Given the description of an element on the screen output the (x, y) to click on. 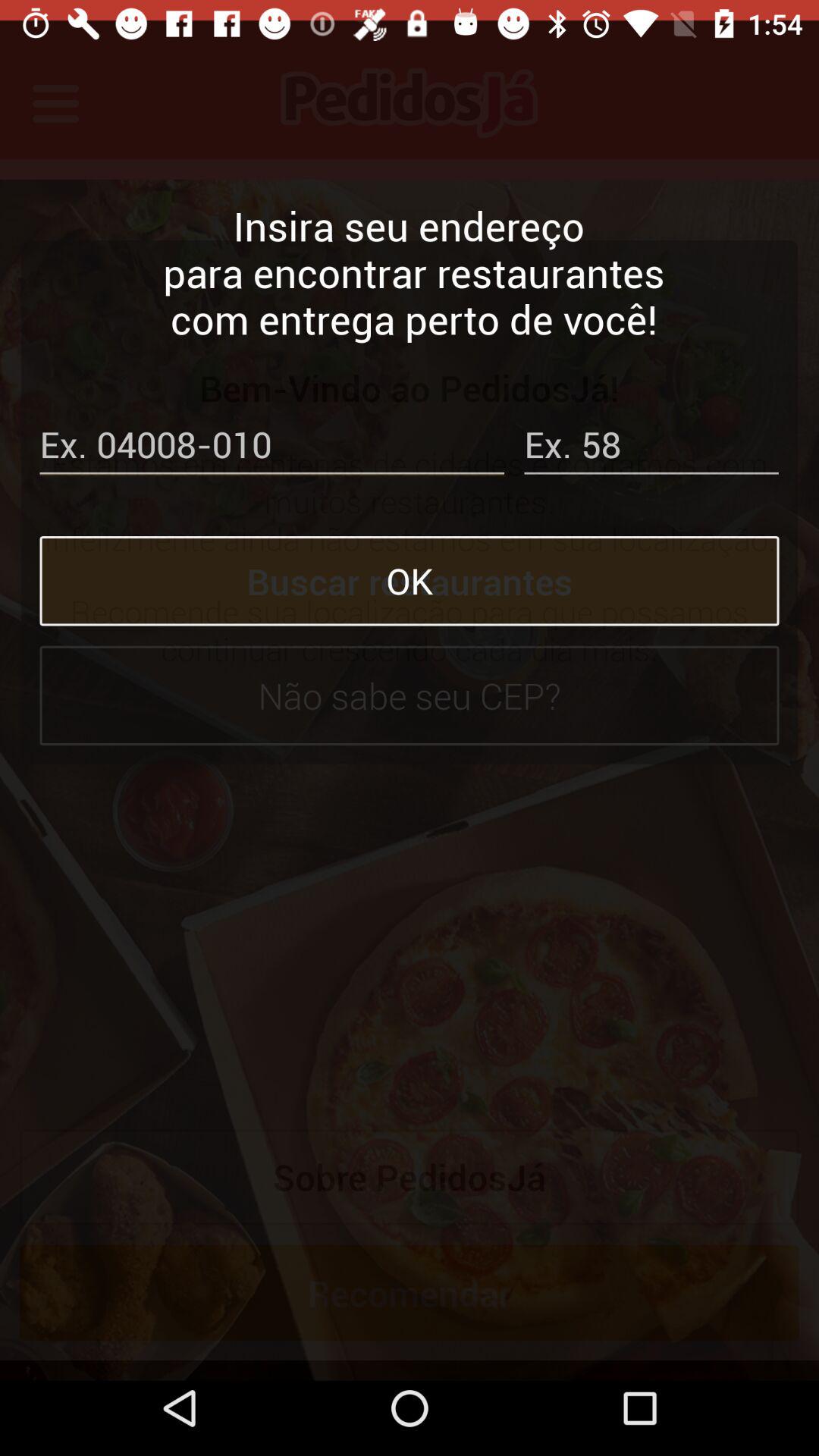
scroll until buscar restaurantes (409, 560)
